Given the description of an element on the screen output the (x, y) to click on. 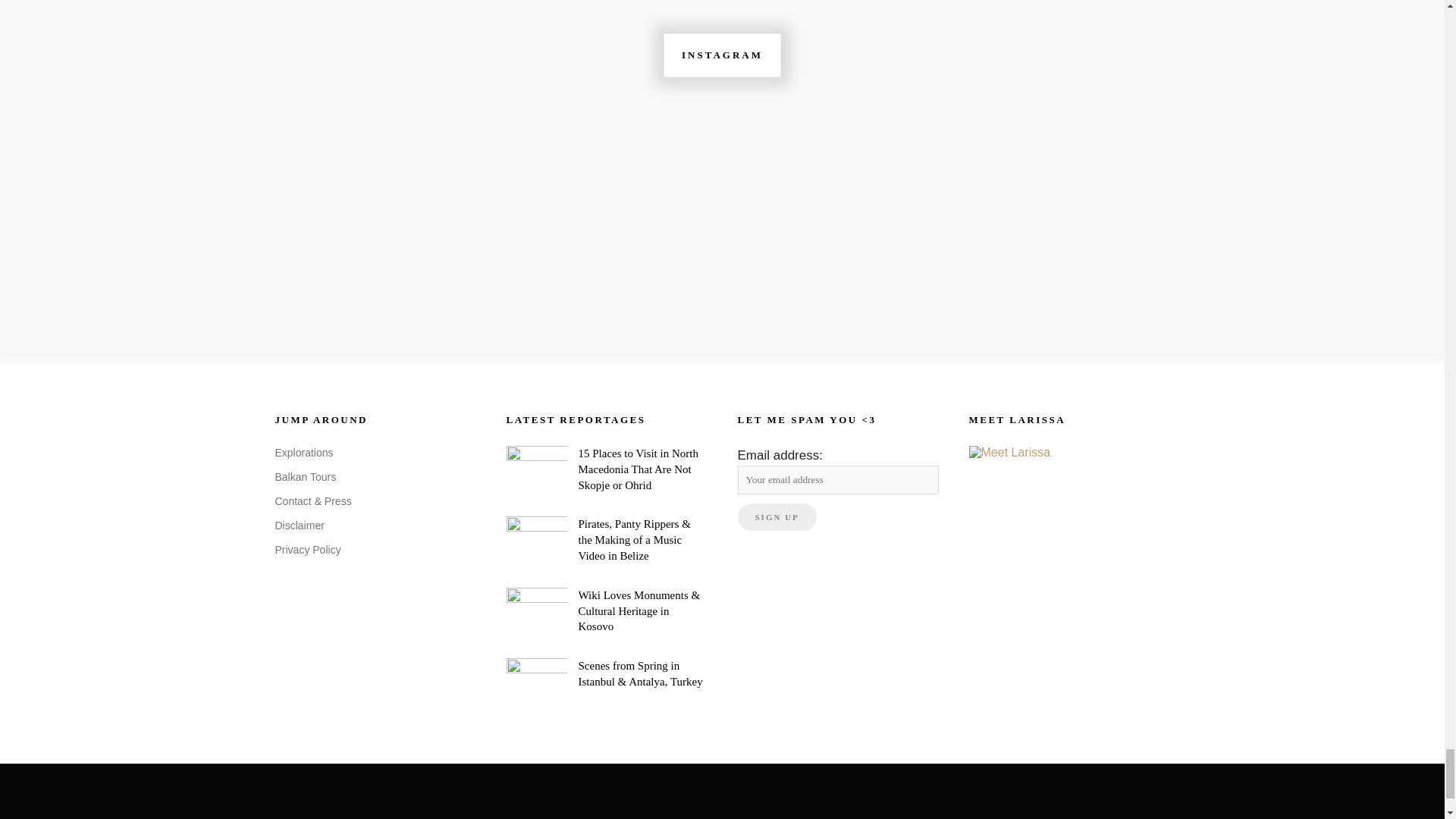
Sign up (775, 516)
